Given the description of an element on the screen output the (x, y) to click on. 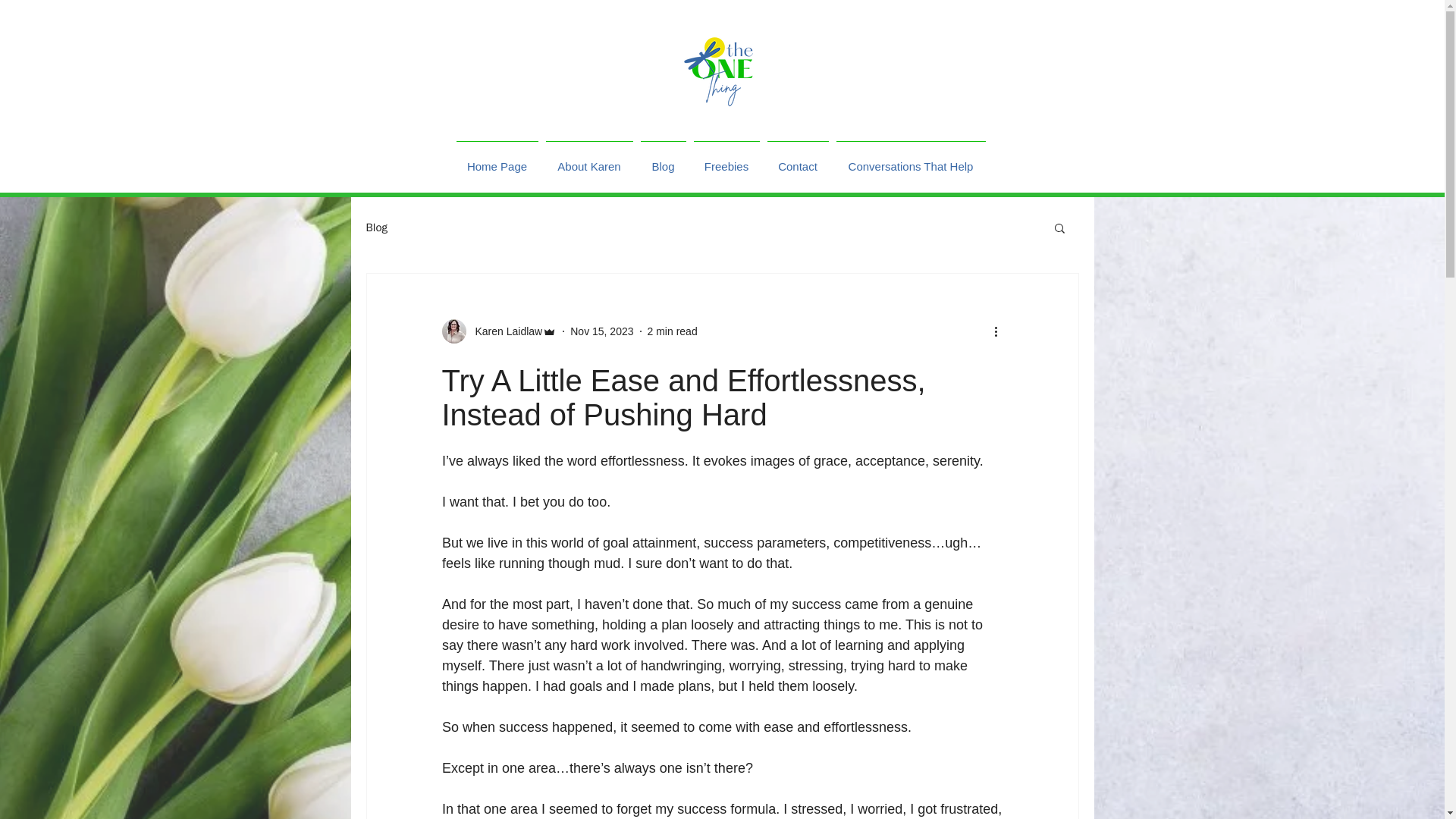
Blog (663, 159)
Home Page (496, 159)
Karen Laidlaw (503, 330)
2 min read (672, 330)
Karen Laidlaw (498, 331)
About Karen (588, 159)
Freebies (726, 159)
Blog (376, 227)
Nov 15, 2023 (601, 330)
Conversations That Help (911, 159)
Contact (796, 159)
